Given the description of an element on the screen output the (x, y) to click on. 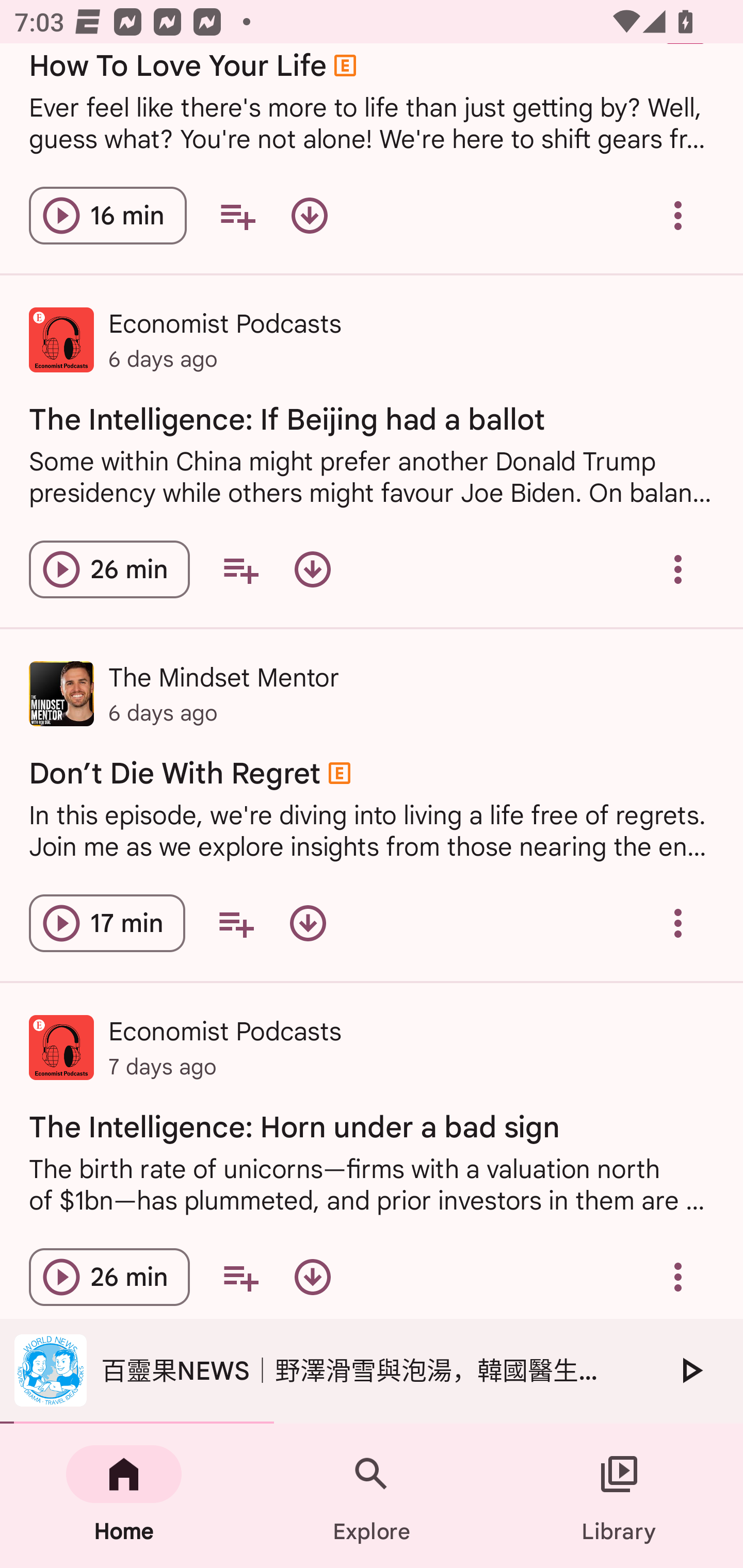
Play episode How To Love Your Life 16 min (107, 215)
Add to your queue (237, 215)
Download episode (309, 215)
Overflow menu (677, 215)
Add to your queue (240, 569)
Download episode (312, 569)
Overflow menu (677, 569)
Play episode Don’t Die With Regret 17 min (106, 922)
Add to your queue (235, 922)
Download episode (307, 922)
Overflow menu (677, 922)
Add to your queue (240, 1277)
Download episode (312, 1277)
Overflow menu (677, 1277)
Play (690, 1370)
Explore (371, 1495)
Library (619, 1495)
